Given the description of an element on the screen output the (x, y) to click on. 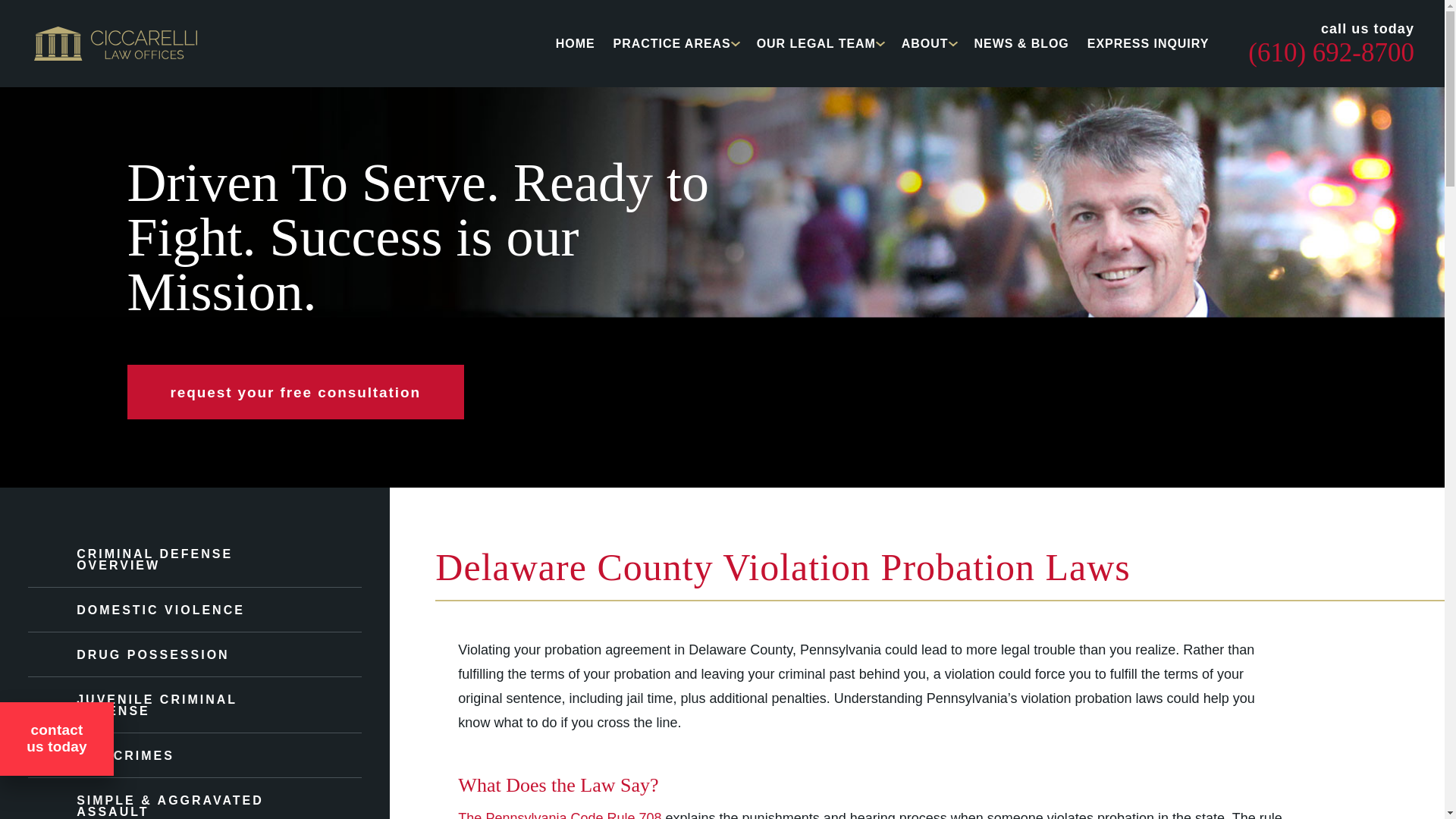
ABOUT (925, 42)
PRACTICE AREAS (671, 42)
OUR LEGAL TEAM (816, 42)
HOME (575, 42)
